Given the description of an element on the screen output the (x, y) to click on. 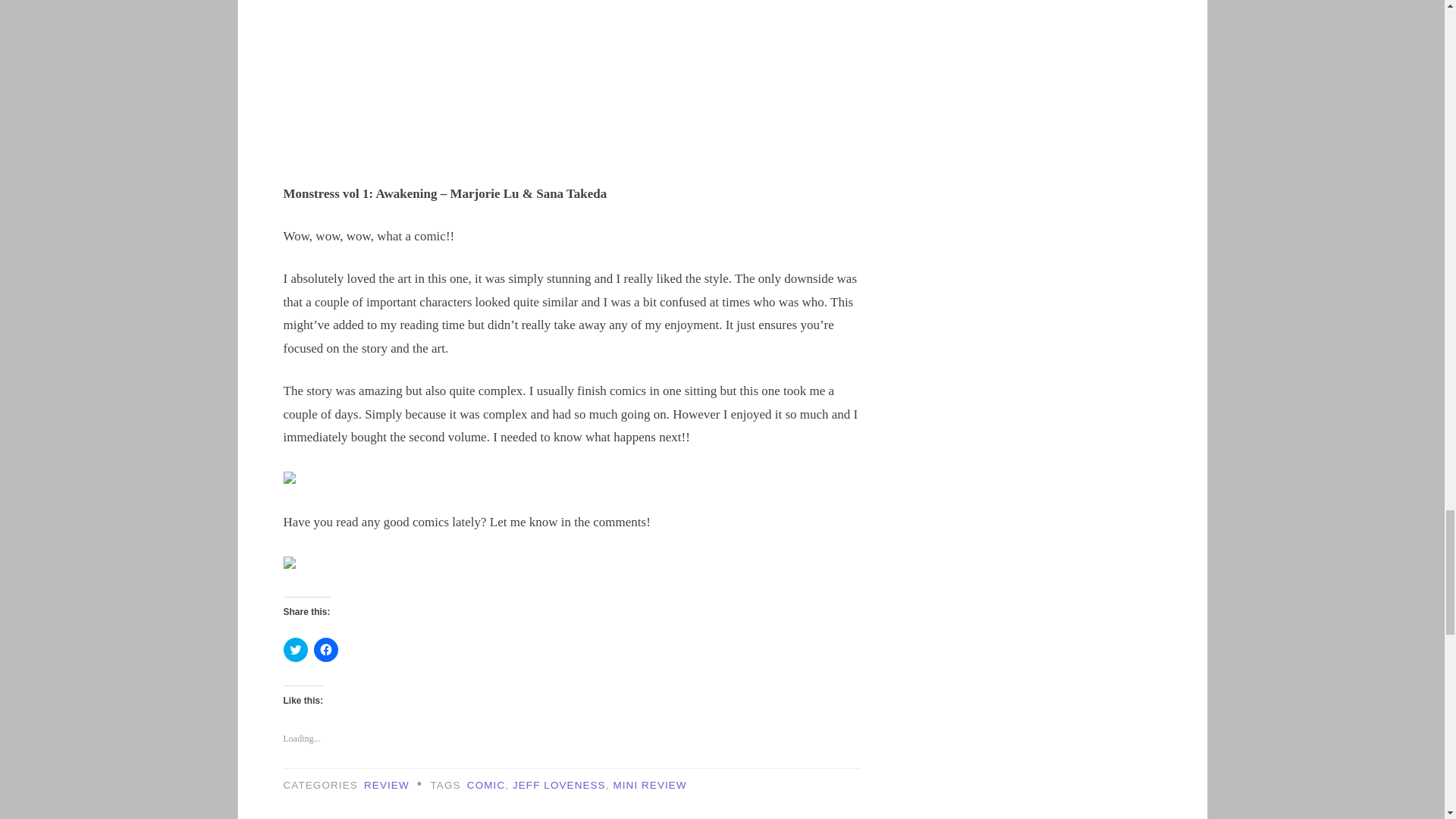
Click to share on Twitter (295, 649)
Click to share on Facebook (325, 649)
